Given the description of an element on the screen output the (x, y) to click on. 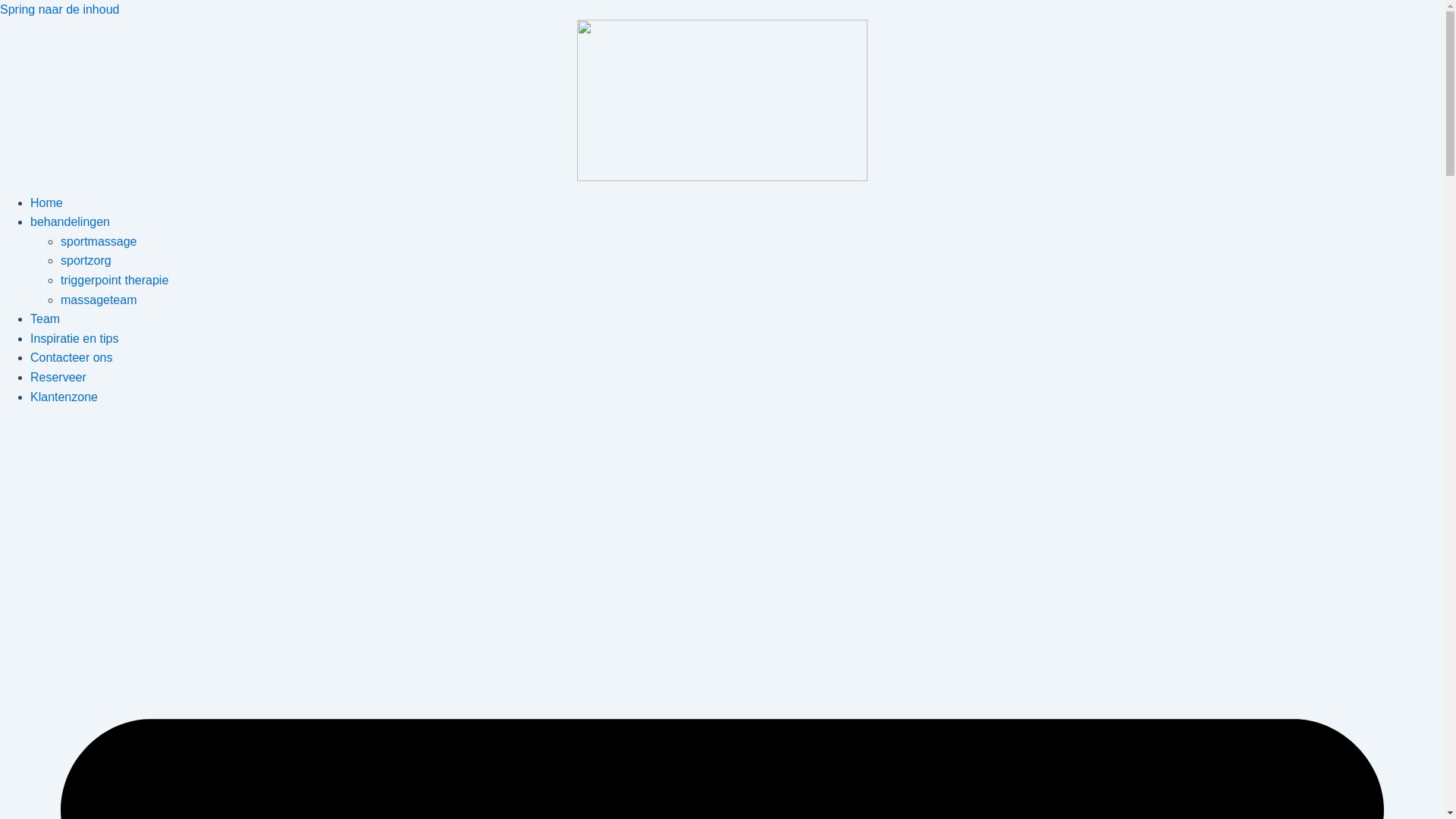
Reserveer Element type: text (58, 376)
Team Element type: text (44, 318)
Contacteer ons Element type: text (71, 357)
Spring naar de inhoud Element type: text (59, 9)
behandelingen Element type: text (69, 221)
sportmassage Element type: text (98, 241)
triggerpoint therapie Element type: text (114, 279)
Home Element type: text (46, 202)
Inspiratie en tips Element type: text (74, 338)
sportzorg Element type: text (85, 260)
massageteam Element type: text (98, 299)
Klantenzone Element type: text (63, 396)
